Given the description of an element on the screen output the (x, y) to click on. 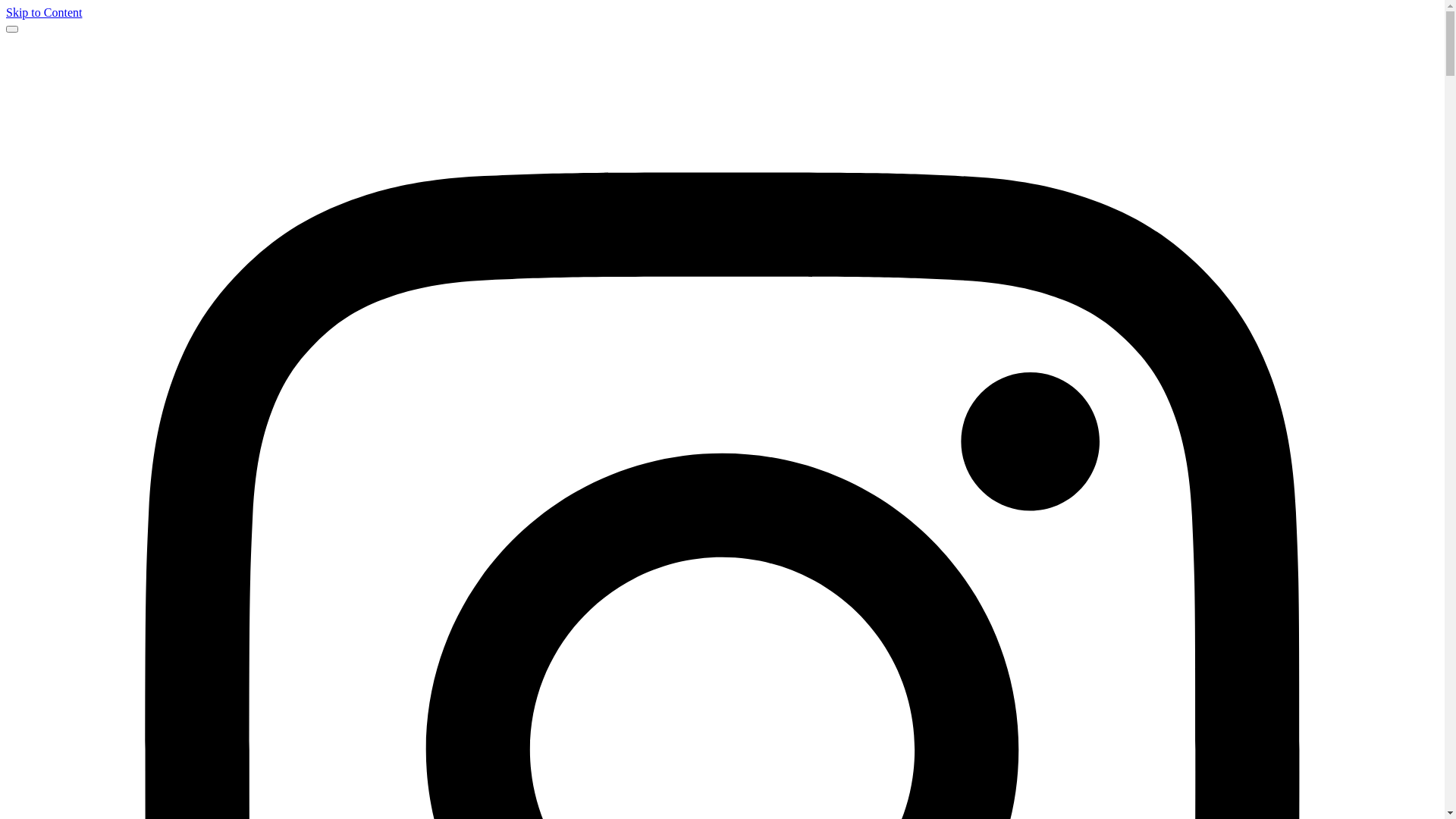
Skip to Content Element type: text (43, 12)
